Given the description of an element on the screen output the (x, y) to click on. 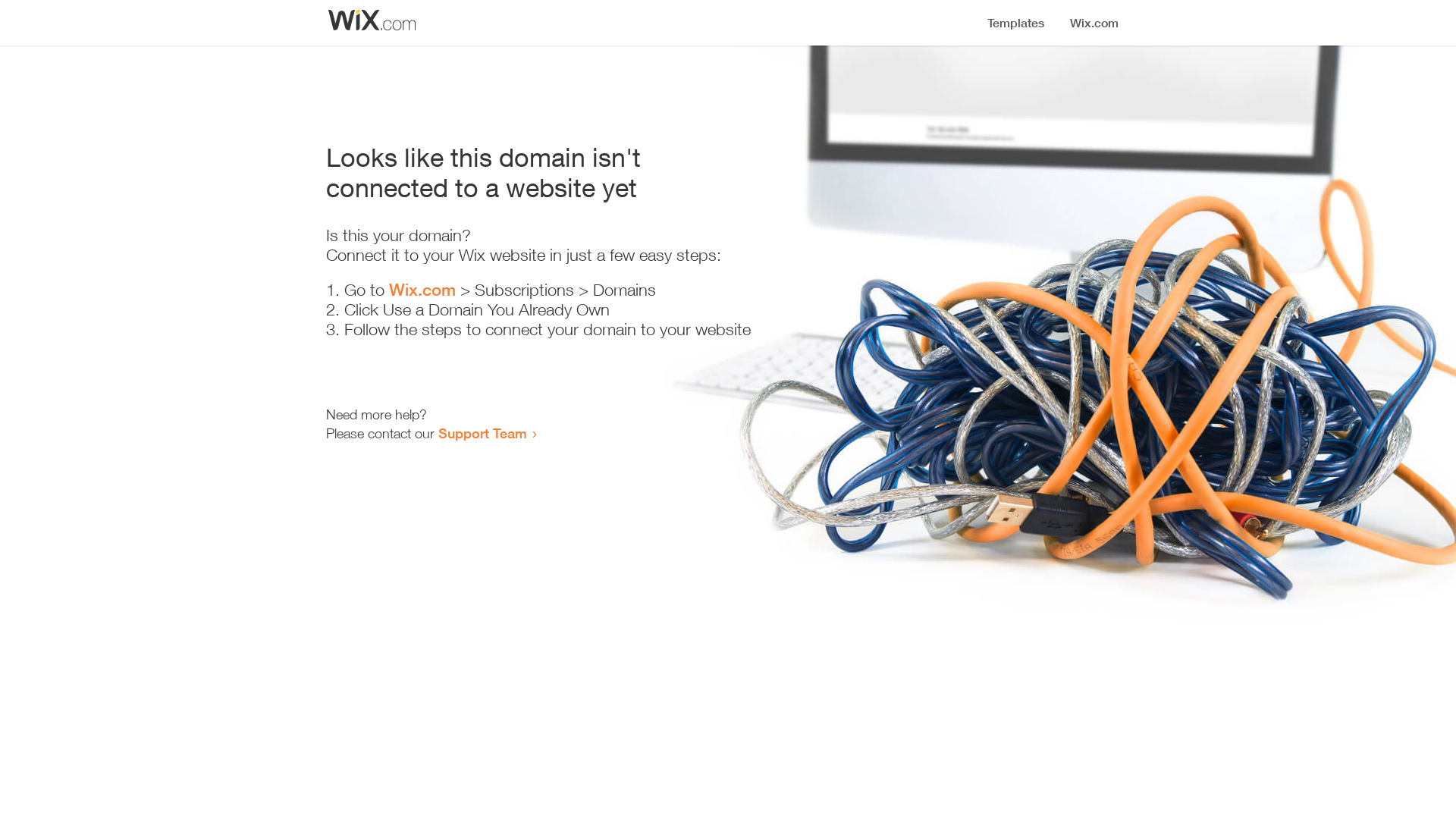
Support Team Element type: text (482, 432)
Wix.com Element type: text (422, 289)
